Given the description of an element on the screen output the (x, y) to click on. 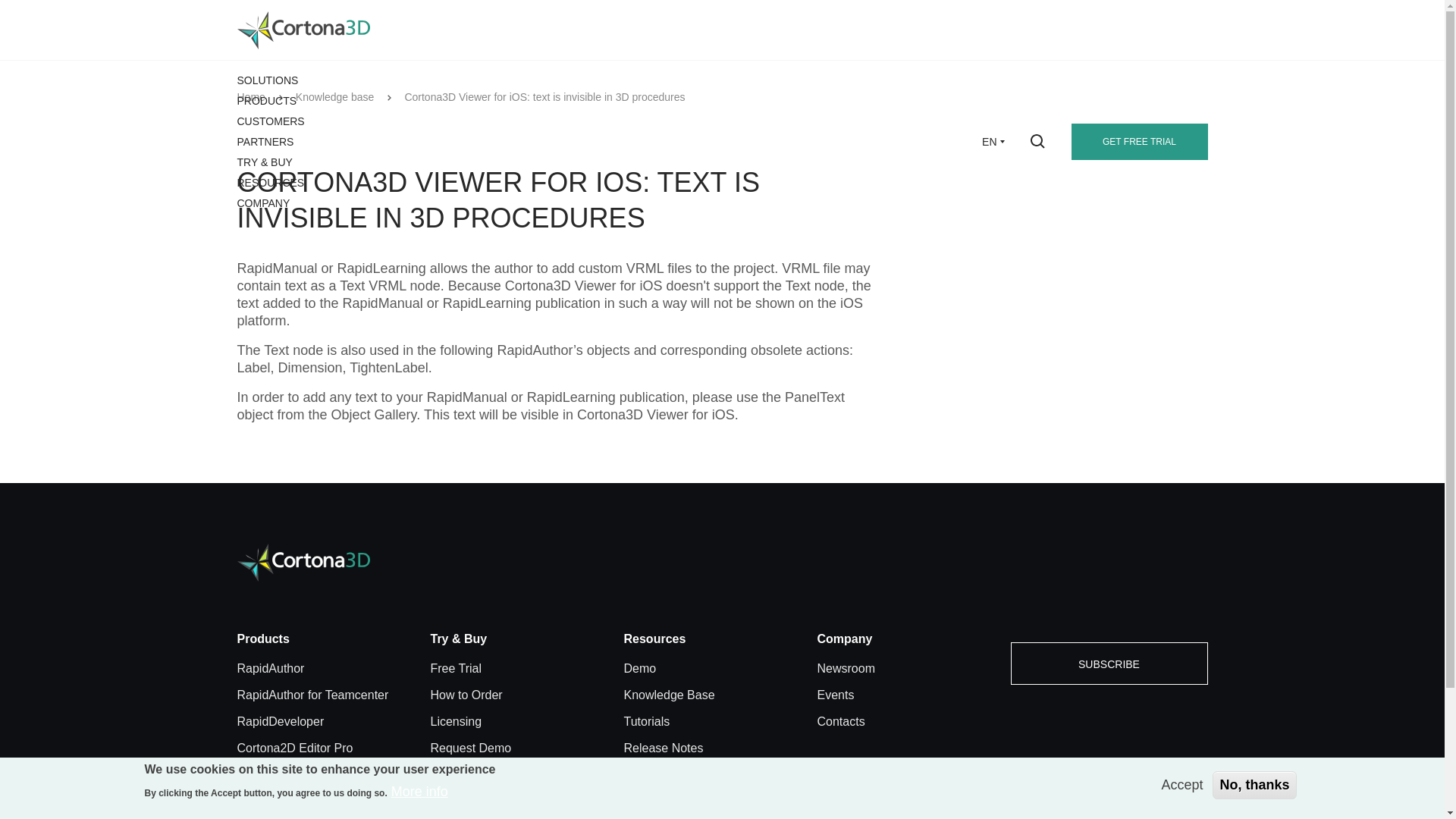
Cortona3D products (266, 101)
Cortona3D solutions (266, 80)
